Given the description of an element on the screen output the (x, y) to click on. 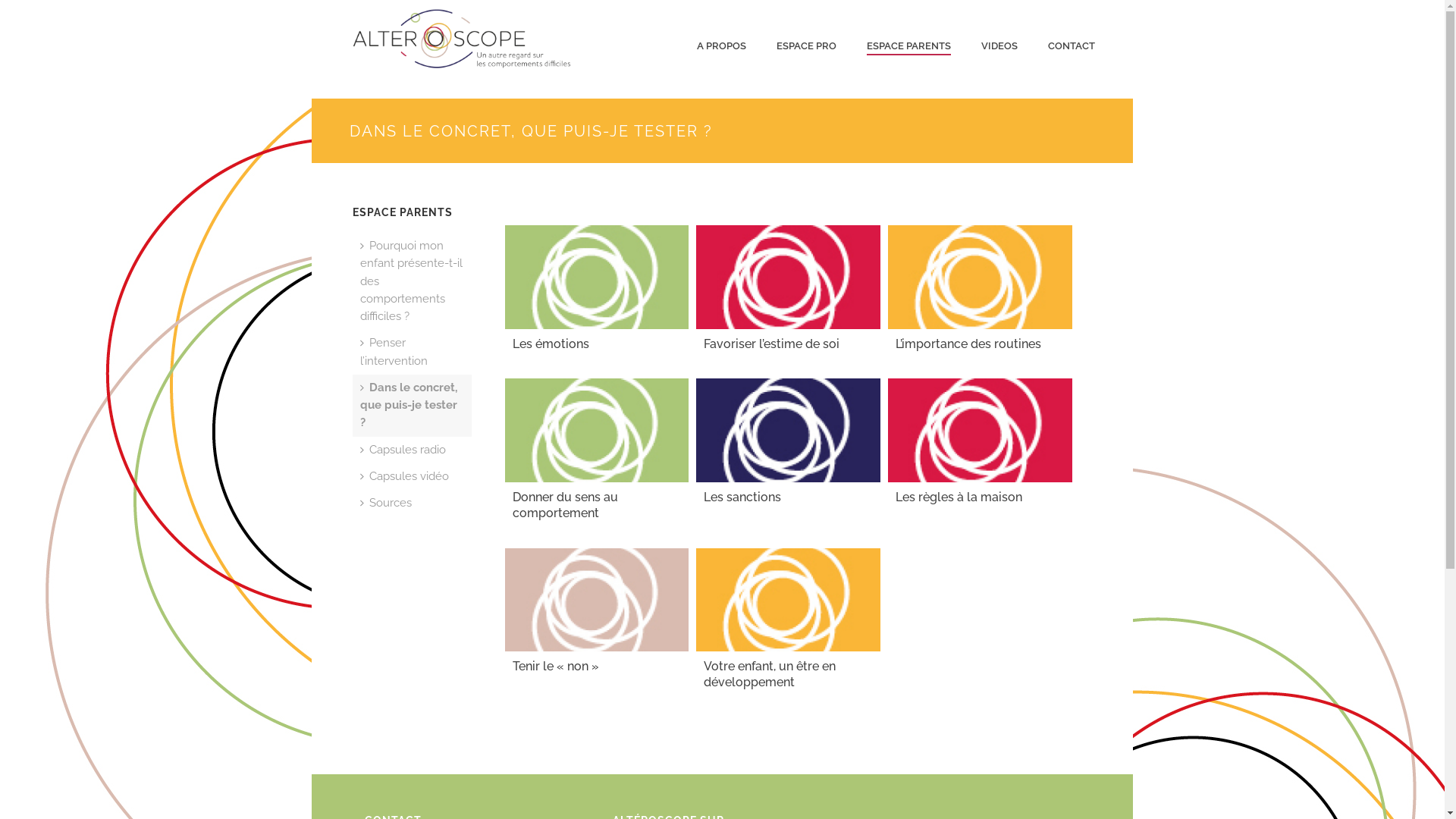
Les sanctions Element type: hover (788, 430)
ESPACE PRO Element type: text (806, 46)
VIDEOS Element type: text (999, 46)
Dans le concret, que puis-je tester ? Element type: text (411, 405)
CONTACT Element type: text (1071, 46)
Les sanctions Element type: text (742, 496)
Sources Element type: text (385, 502)
A PROPOS Element type: text (721, 46)
Donner du sens au comportement Element type: text (565, 504)
Capsules radio Element type: text (402, 449)
Donner du sens au comportement Element type: hover (597, 430)
ESPACE PARENTS Element type: text (908, 46)
